Given the description of an element on the screen output the (x, y) to click on. 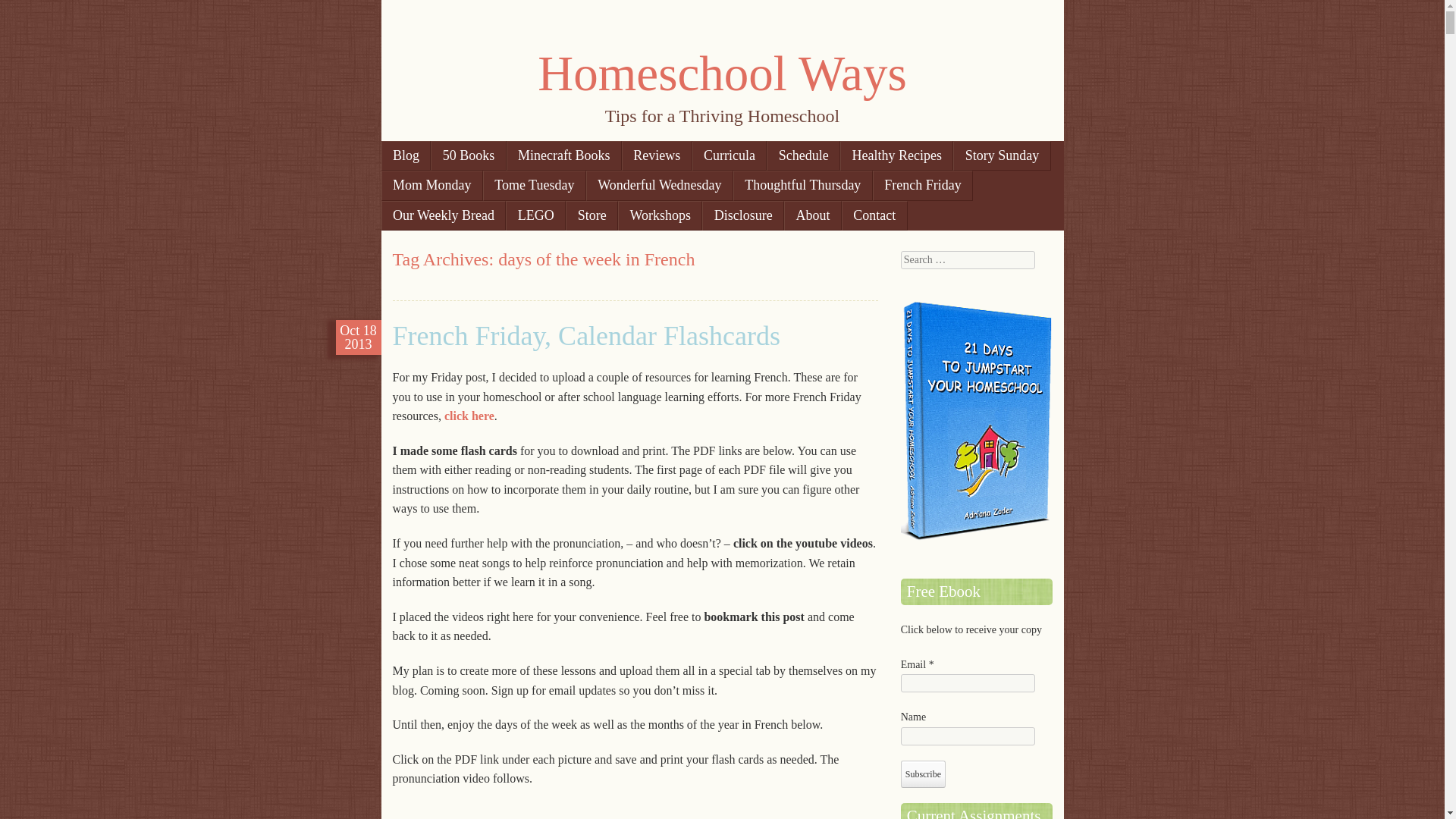
Homeschool Ways (721, 72)
LEGO (535, 215)
Skip to content (433, 155)
Blog (405, 155)
French Friday Series (469, 415)
Healthy Recipes (896, 155)
Permalink to French Friday, Calendar Flashcards (586, 336)
click here (469, 415)
Story Sunday (1001, 155)
Permanent Link to French Friday, Calendar Flashcards (358, 337)
Disclosure (742, 215)
Store (591, 215)
Who am I? (812, 215)
Tome Tuesday (534, 184)
Our Weekly Bread (442, 215)
